Given the description of an element on the screen output the (x, y) to click on. 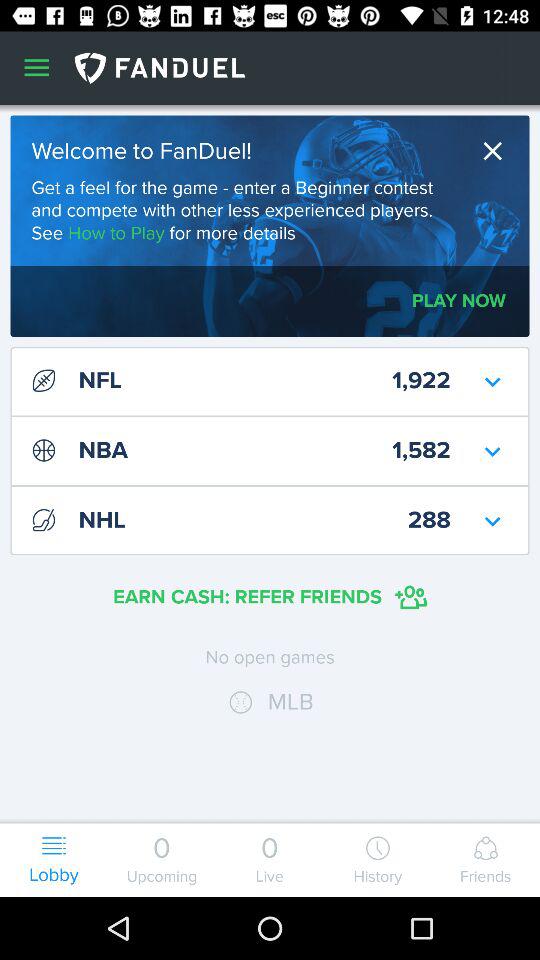
to close the video (498, 150)
